Given the description of an element on the screen output the (x, y) to click on. 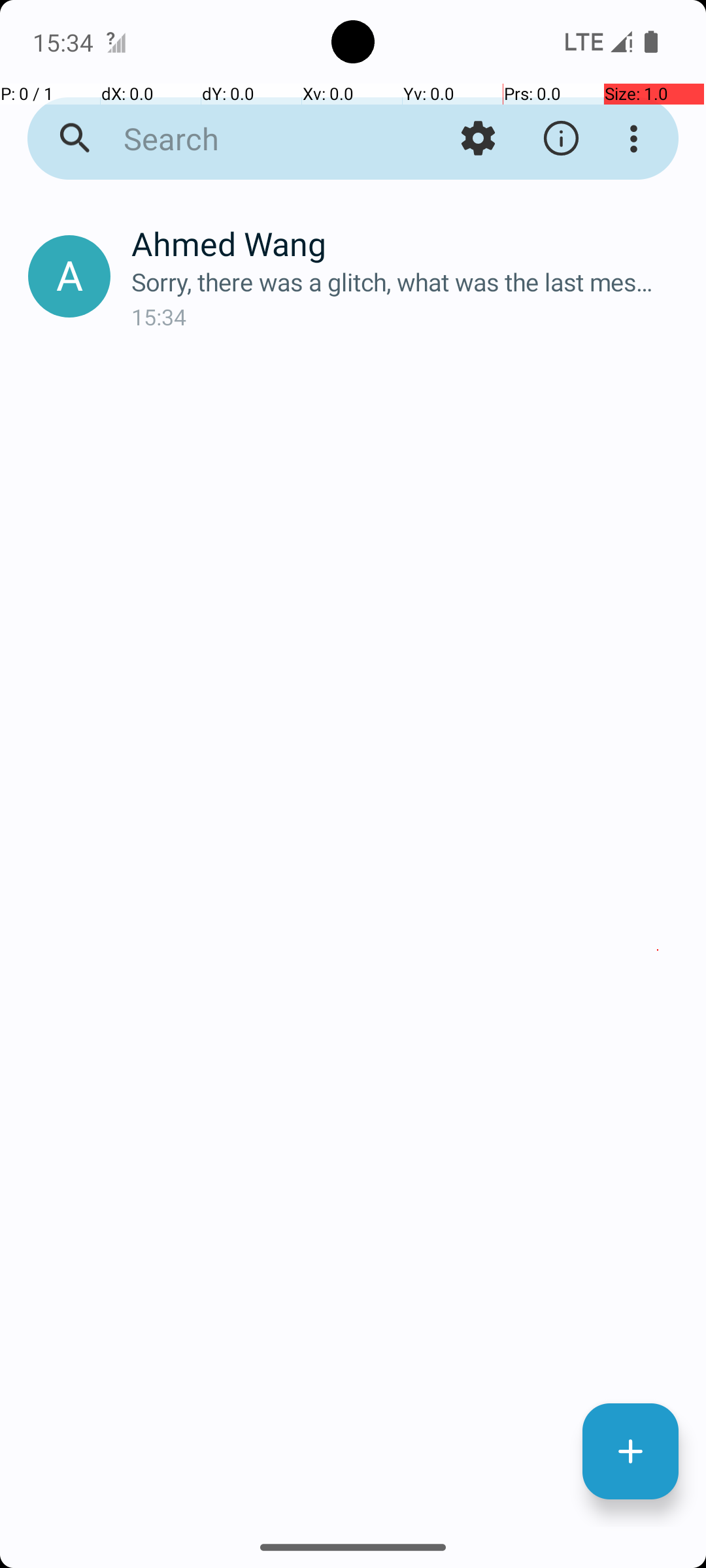
Ahmed Wang Element type: android.widget.TextView (408, 242)
